Given the description of an element on the screen output the (x, y) to click on. 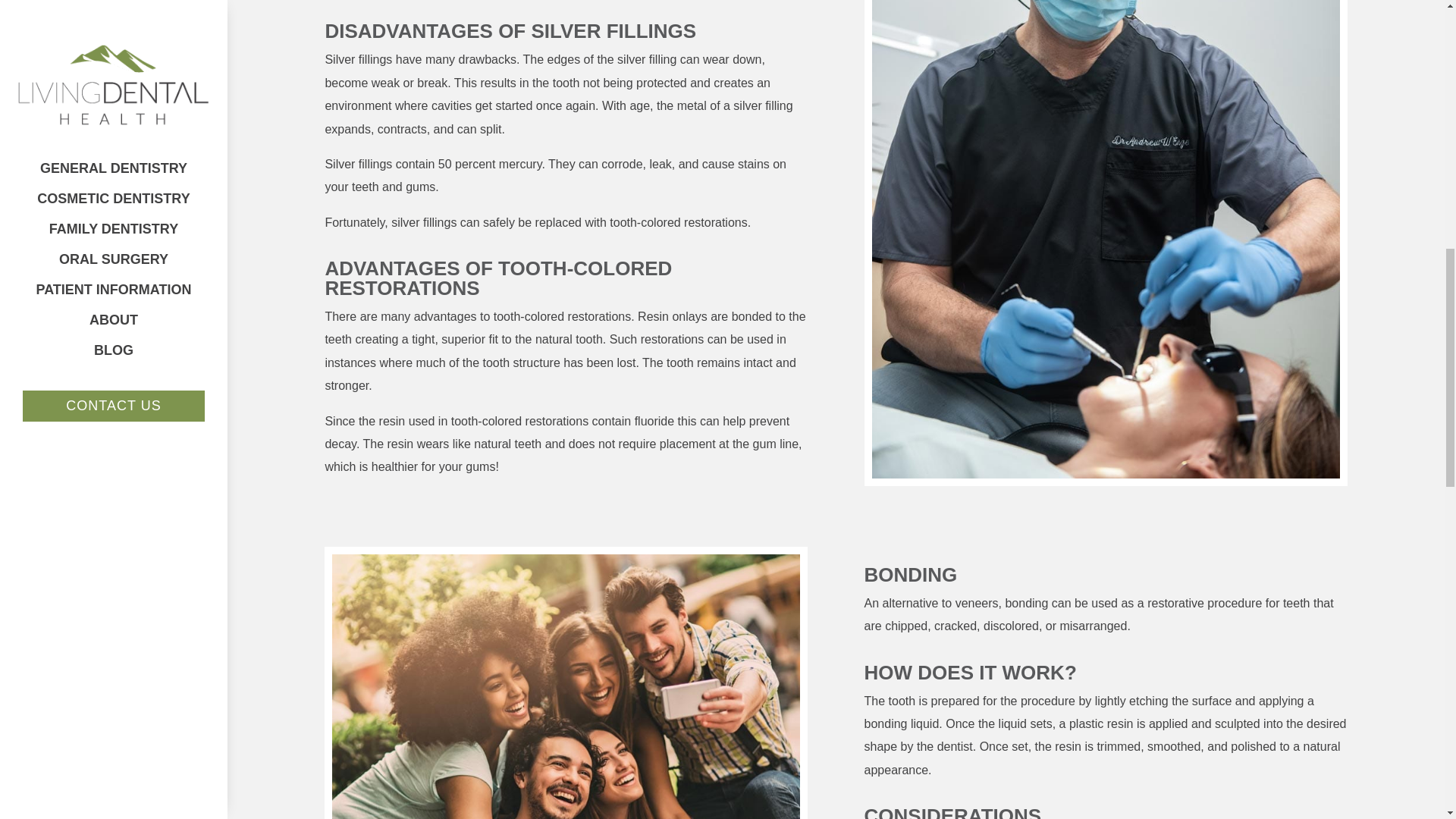
cosmetic-2-web (565, 686)
